Given the description of an element on the screen output the (x, y) to click on. 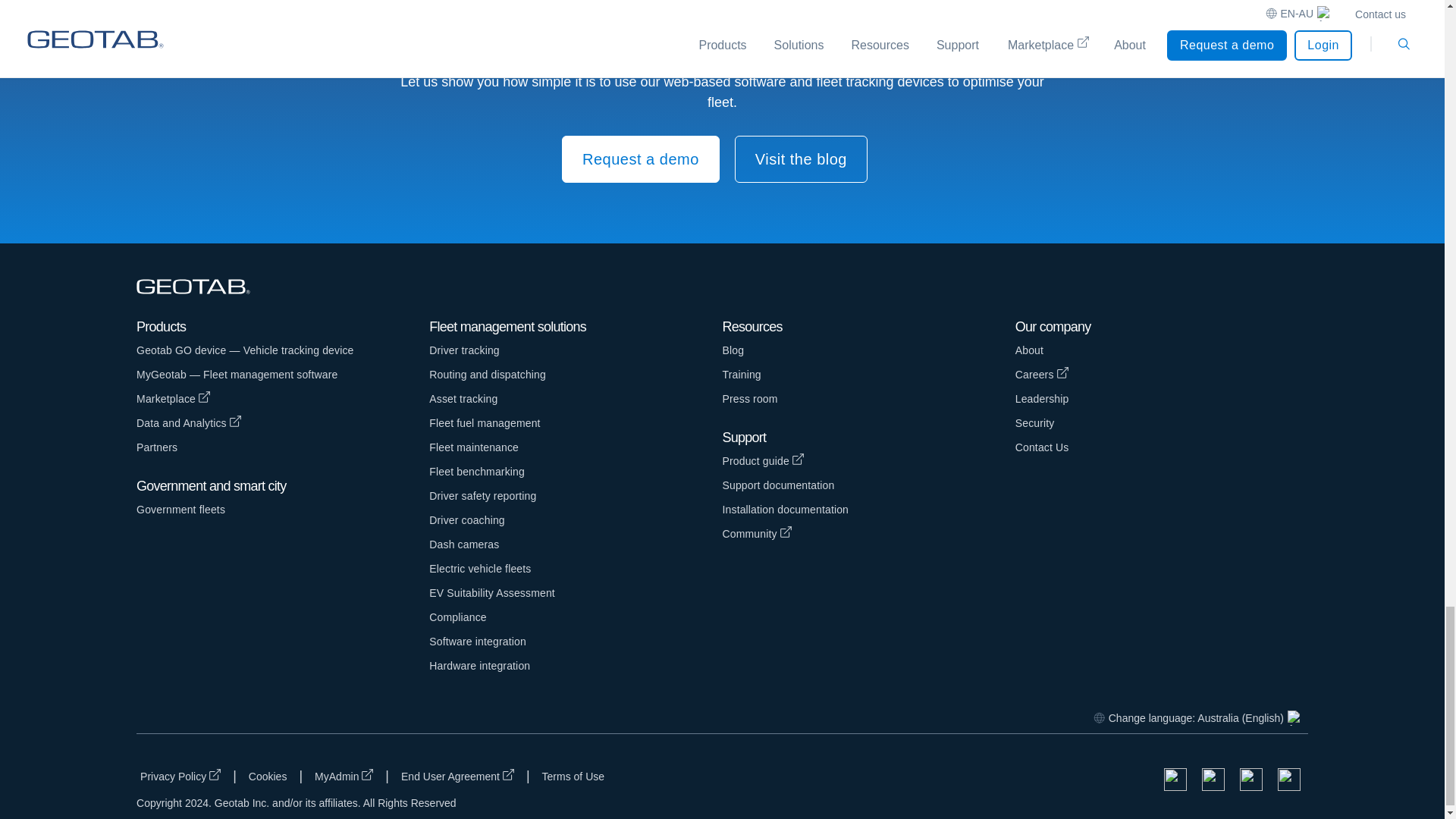
Go to Homepage (200, 287)
This link may open in a new tab (1160, 374)
This link may open in a new tab (868, 534)
This link may open in a new tab (344, 775)
This link may open in a new tab (457, 775)
This link may open in a new tab (282, 423)
This link may open in a new tab (868, 461)
This link may open in a new tab (180, 775)
This link may open in a new tab (282, 399)
